Given the description of an element on the screen output the (x, y) to click on. 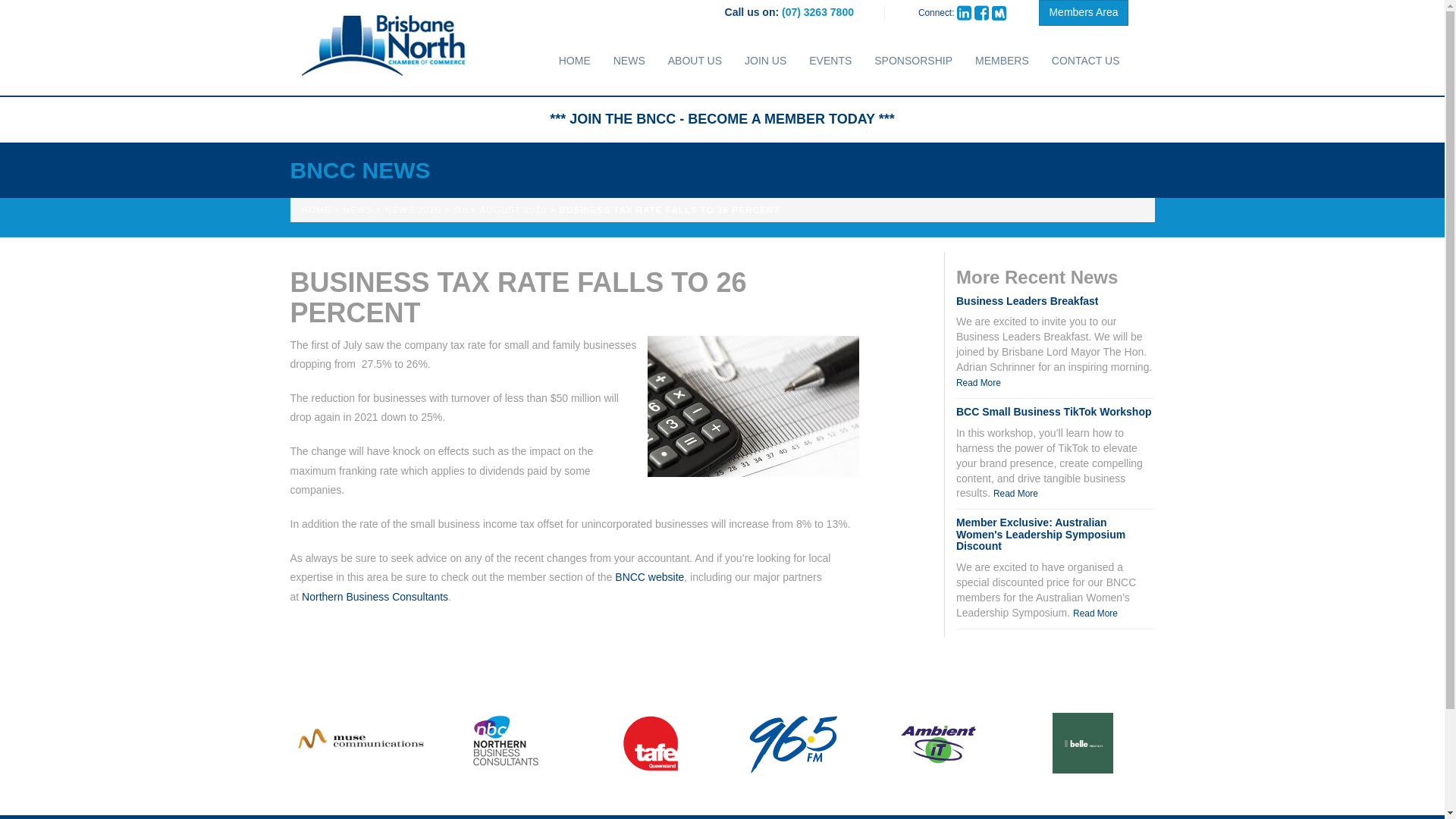
NEWS 2020 (413, 209)
ABOUT US (694, 60)
JULY AUGUST 2020 (499, 209)
BUSINESS TAX RATE FALLS TO 26 PERCENT (668, 209)
Read More (1095, 613)
MEMBERS (1002, 60)
Business Leaders Breakfast (1027, 300)
Read More (978, 382)
BNCC website (649, 576)
HOME (316, 209)
NEWS (357, 209)
Northern Business Consultants (374, 596)
HOME (574, 60)
BCC Small Business TikTok Workshop (1053, 411)
